Given the description of an element on the screen output the (x, y) to click on. 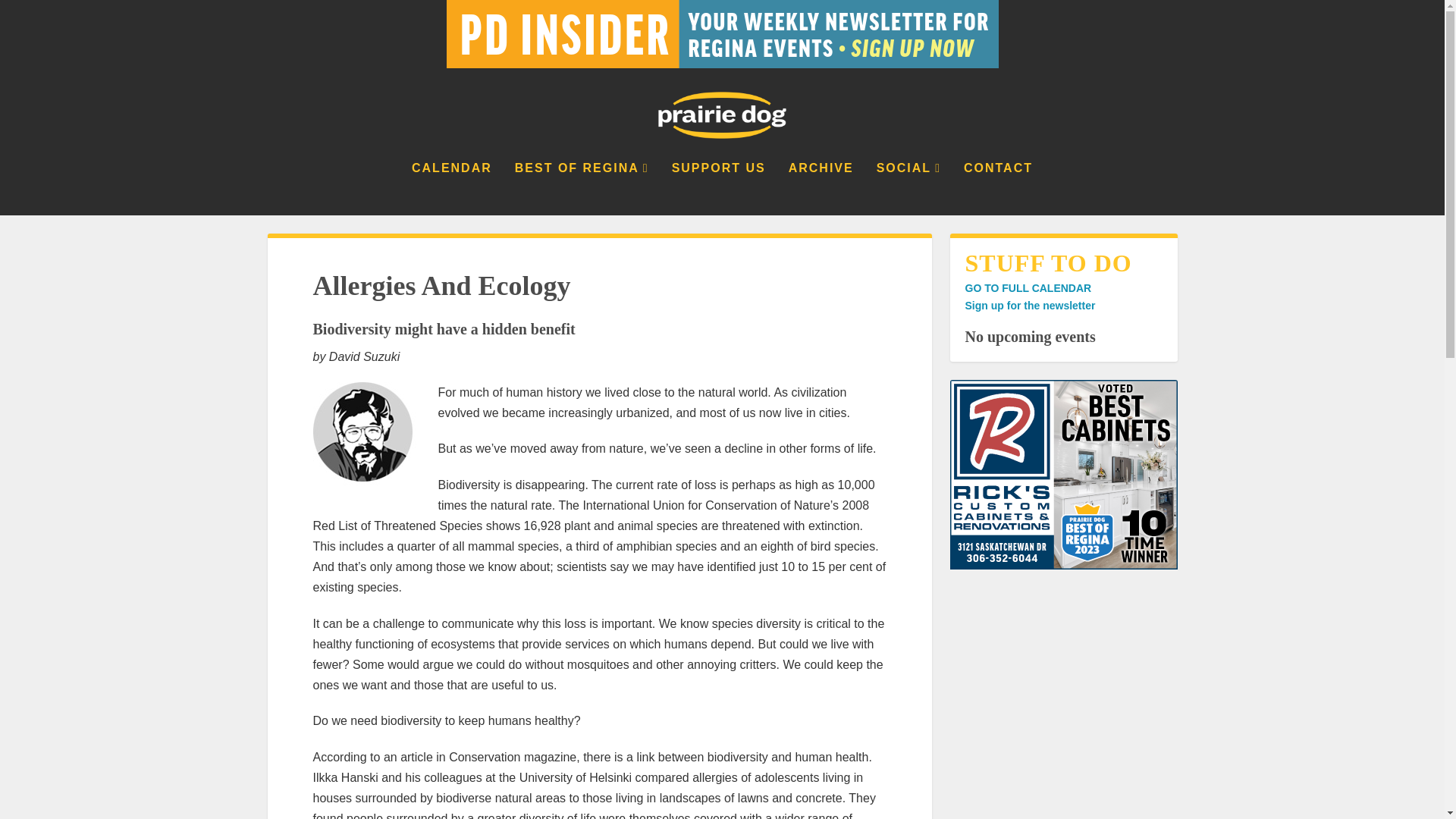
Sign up for the newsletter (1028, 305)
SUPPORT US (718, 188)
ARCHIVE (821, 188)
CONTACT (997, 188)
BEST OF REGINA (582, 188)
GO TO FULL CALENDAR (1026, 287)
SOCIAL (908, 188)
CALENDAR (452, 188)
